Given the description of an element on the screen output the (x, y) to click on. 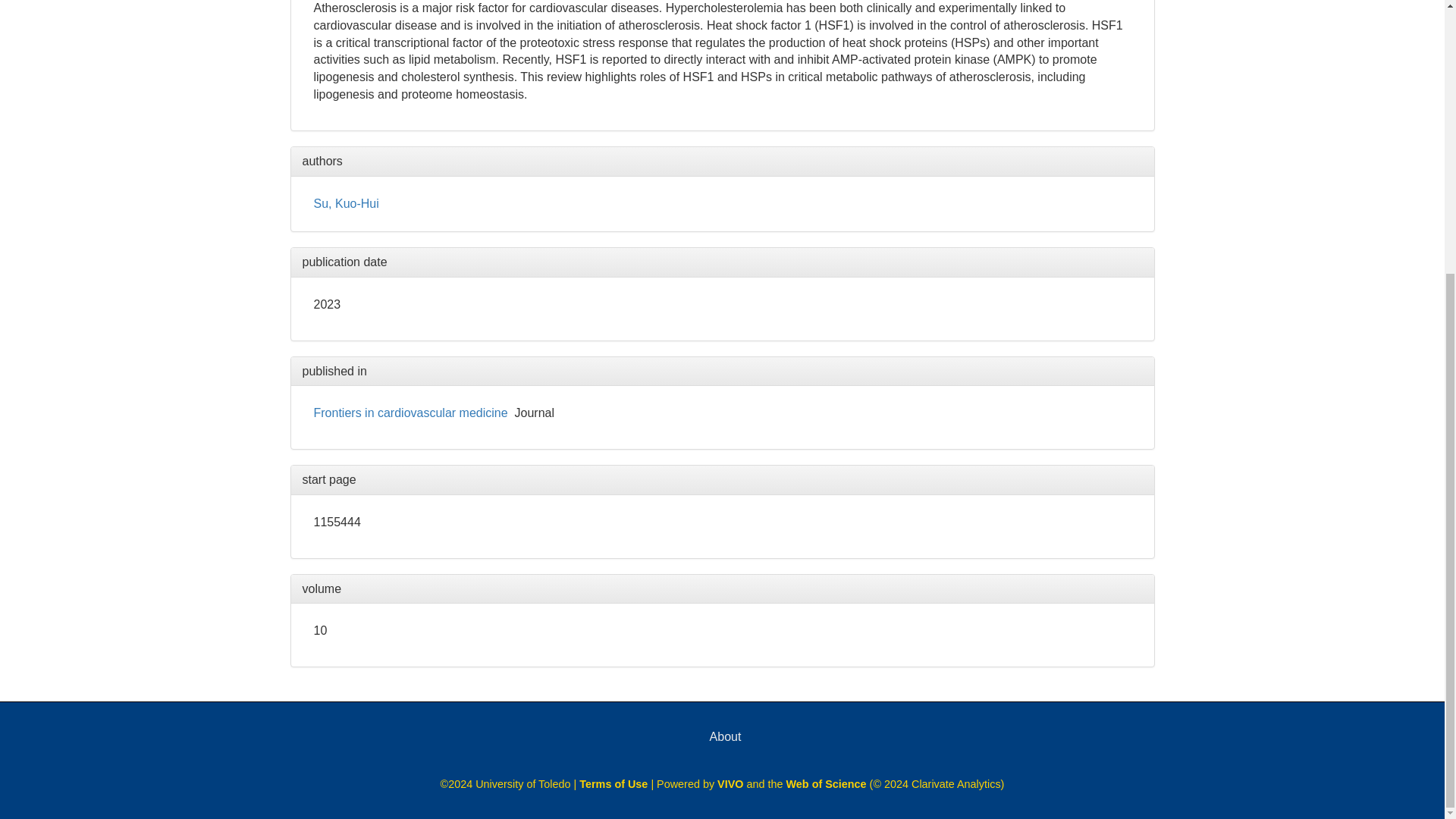
About (725, 736)
Terms of Use (614, 784)
Web of Science (826, 784)
author name (346, 203)
VIVO (729, 784)
Su, Kuo-Hui (346, 203)
About (725, 736)
Terms of Use (614, 784)
Frontiers in cardiovascular medicine (411, 412)
Powered by VIVO (729, 784)
name (411, 412)
